Given the description of an element on the screen output the (x, y) to click on. 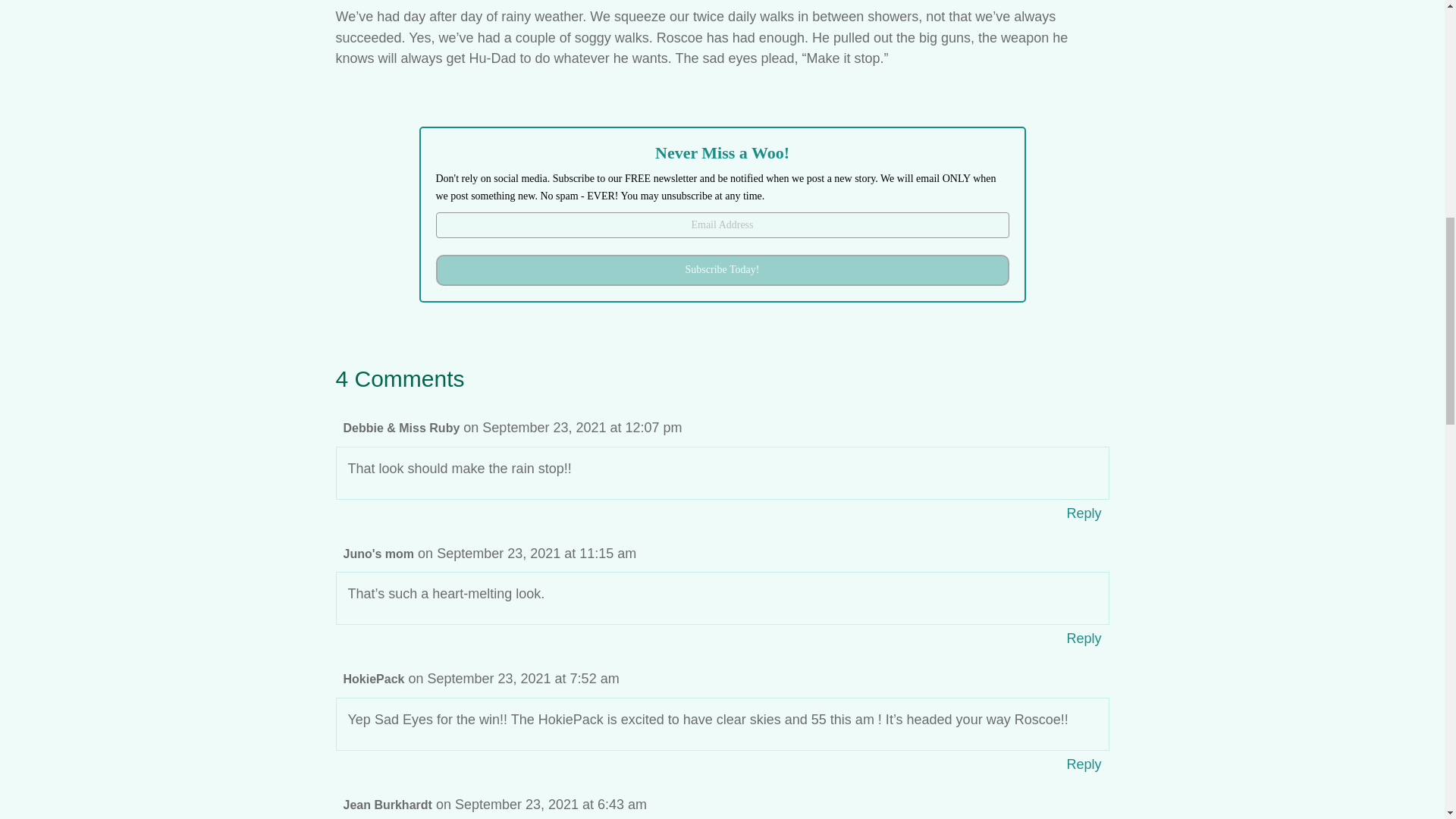
Reply (1083, 513)
Subscribe Today! (722, 269)
Reply (1083, 763)
Reply (1083, 638)
